Given the description of an element on the screen output the (x, y) to click on. 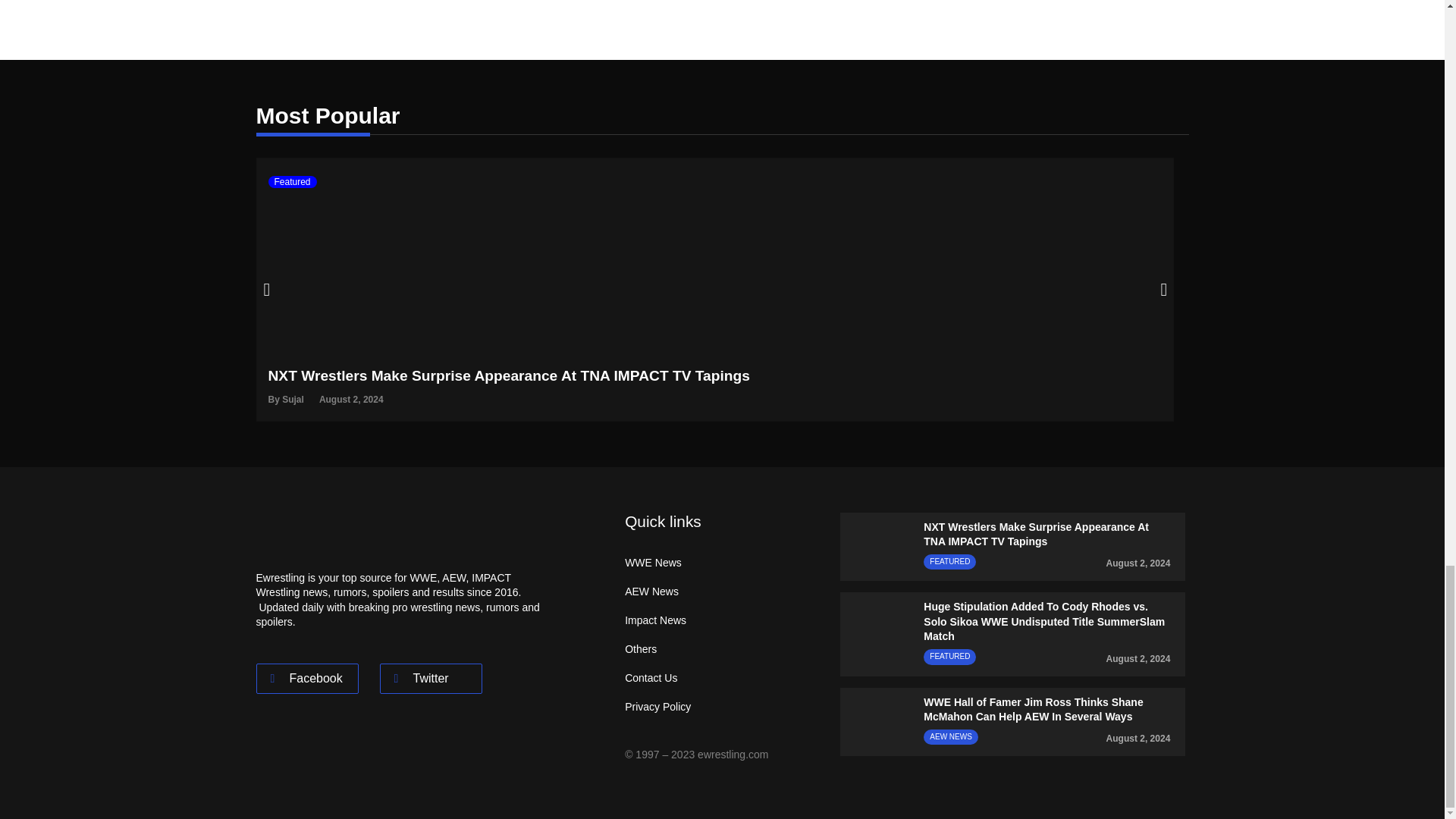
Posts by Sujal (292, 398)
